Given the description of an element on the screen output the (x, y) to click on. 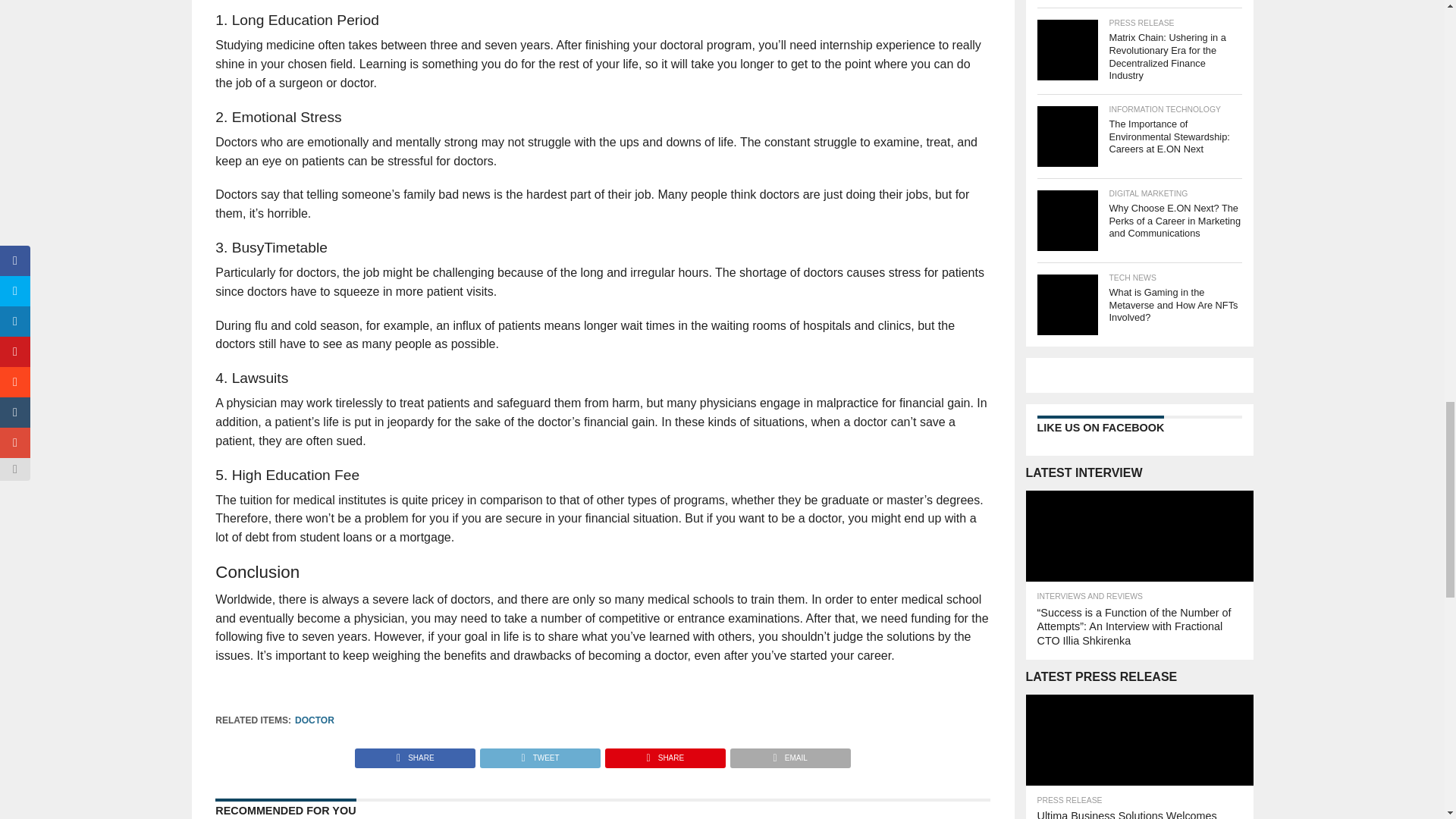
Share on Facebook (415, 753)
Tweet This Post (539, 753)
Pin This Post (664, 753)
